Given the description of an element on the screen output the (x, y) to click on. 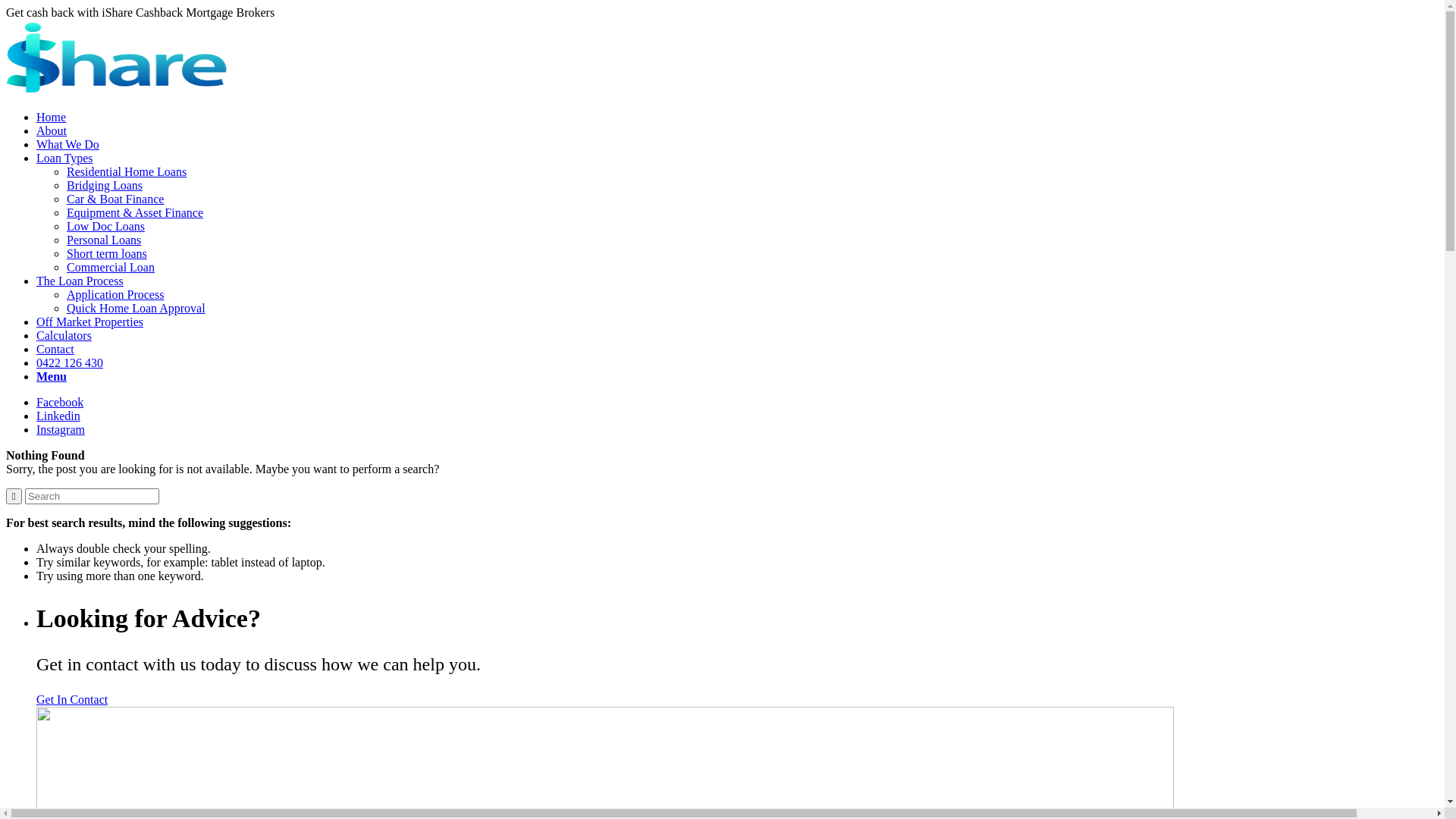
Linkedin Element type: text (58, 415)
Bridging Loans Element type: text (104, 184)
Facebook Element type: text (59, 401)
Short term loans Element type: text (106, 253)
About Element type: text (51, 130)
Equipment & Asset Finance Element type: text (134, 212)
Application Process Element type: text (114, 294)
Loan Types Element type: text (64, 157)
Off Market Properties Element type: text (89, 321)
What We Do Element type: text (67, 144)
Commercial Loan Element type: text (110, 266)
The Loan Process Element type: text (79, 280)
0422 126 430 Element type: text (69, 362)
Get In Contact Element type: text (71, 699)
Menu Element type: text (51, 376)
Quick Home Loan Approval Element type: text (135, 307)
Residential Home Loans Element type: text (126, 171)
Low Doc Loans Element type: text (105, 225)
Personal Loans Element type: text (103, 239)
Home Element type: text (50, 116)
Car & Boat Finance Element type: text (114, 198)
Instagram Element type: text (60, 429)
Calculators Element type: text (63, 335)
Contact Element type: text (55, 348)
